Given the description of an element on the screen output the (x, y) to click on. 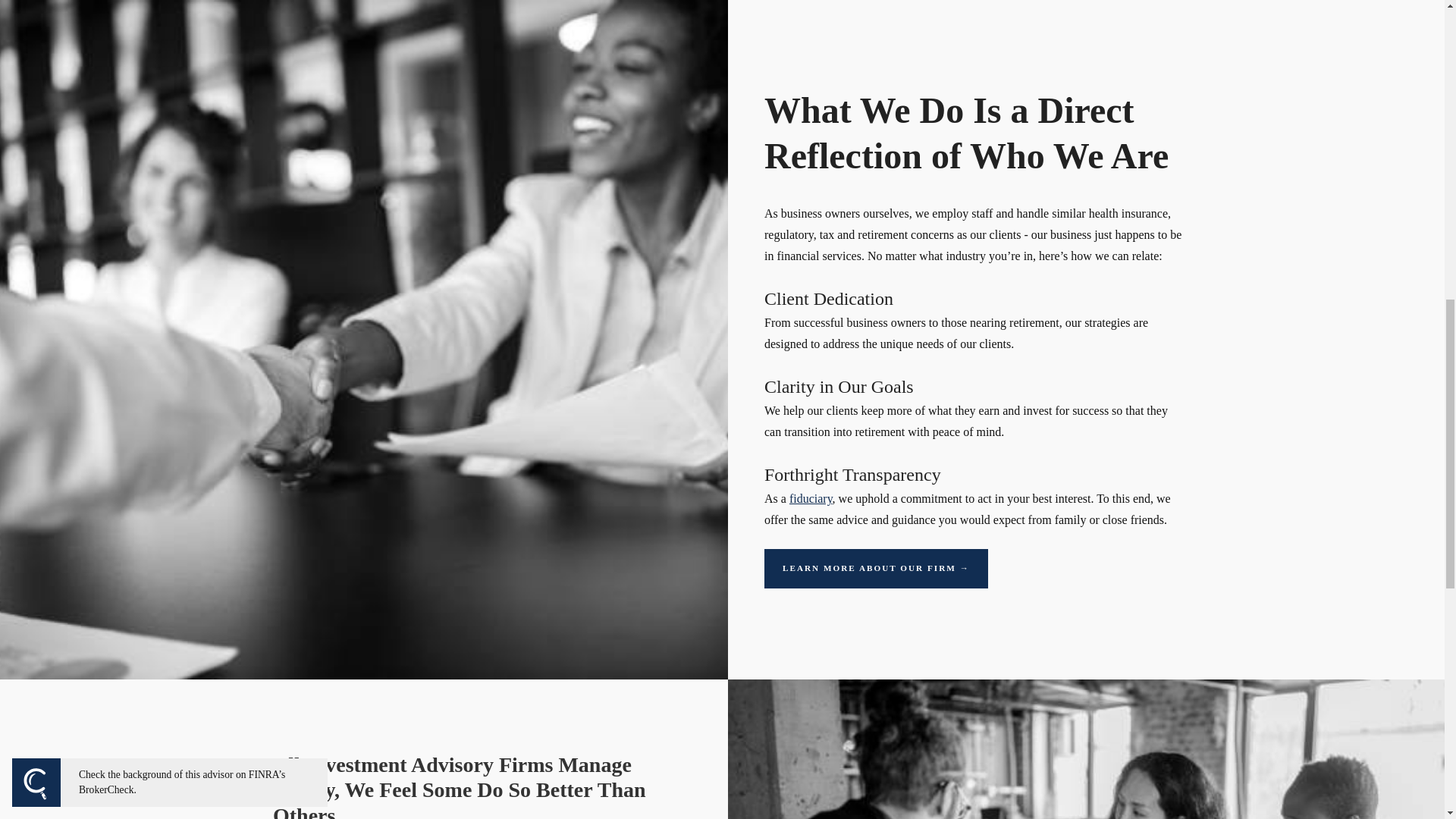
fiduciary (810, 498)
